Given the description of an element on the screen output the (x, y) to click on. 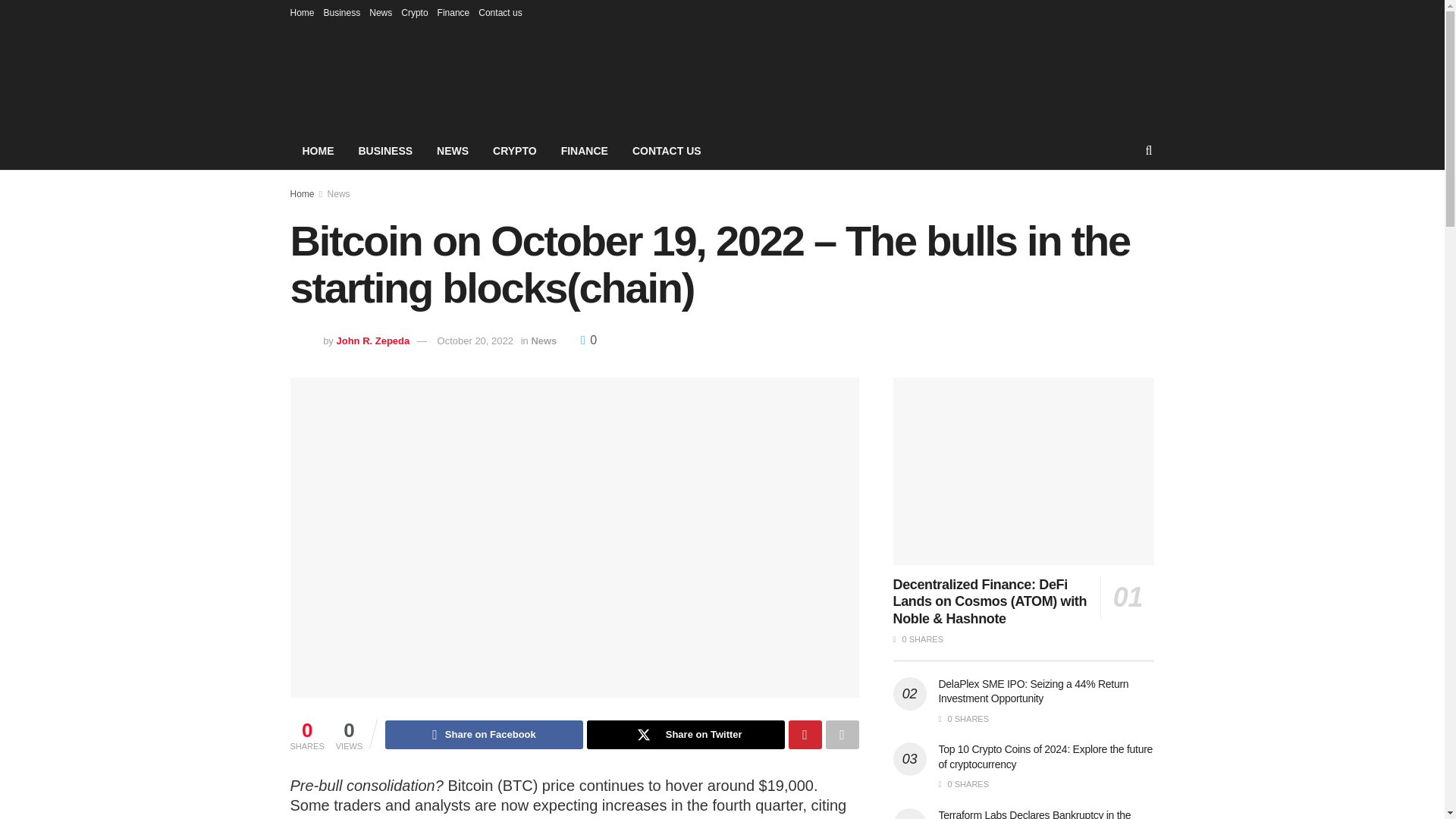
CRYPTO (514, 150)
John R. Zepeda (372, 340)
HOME (317, 150)
Business (342, 12)
FINANCE (584, 150)
Crypto (414, 12)
Share on Facebook (484, 734)
Share on Twitter (685, 734)
News (543, 340)
0 (588, 339)
